Given the description of an element on the screen output the (x, y) to click on. 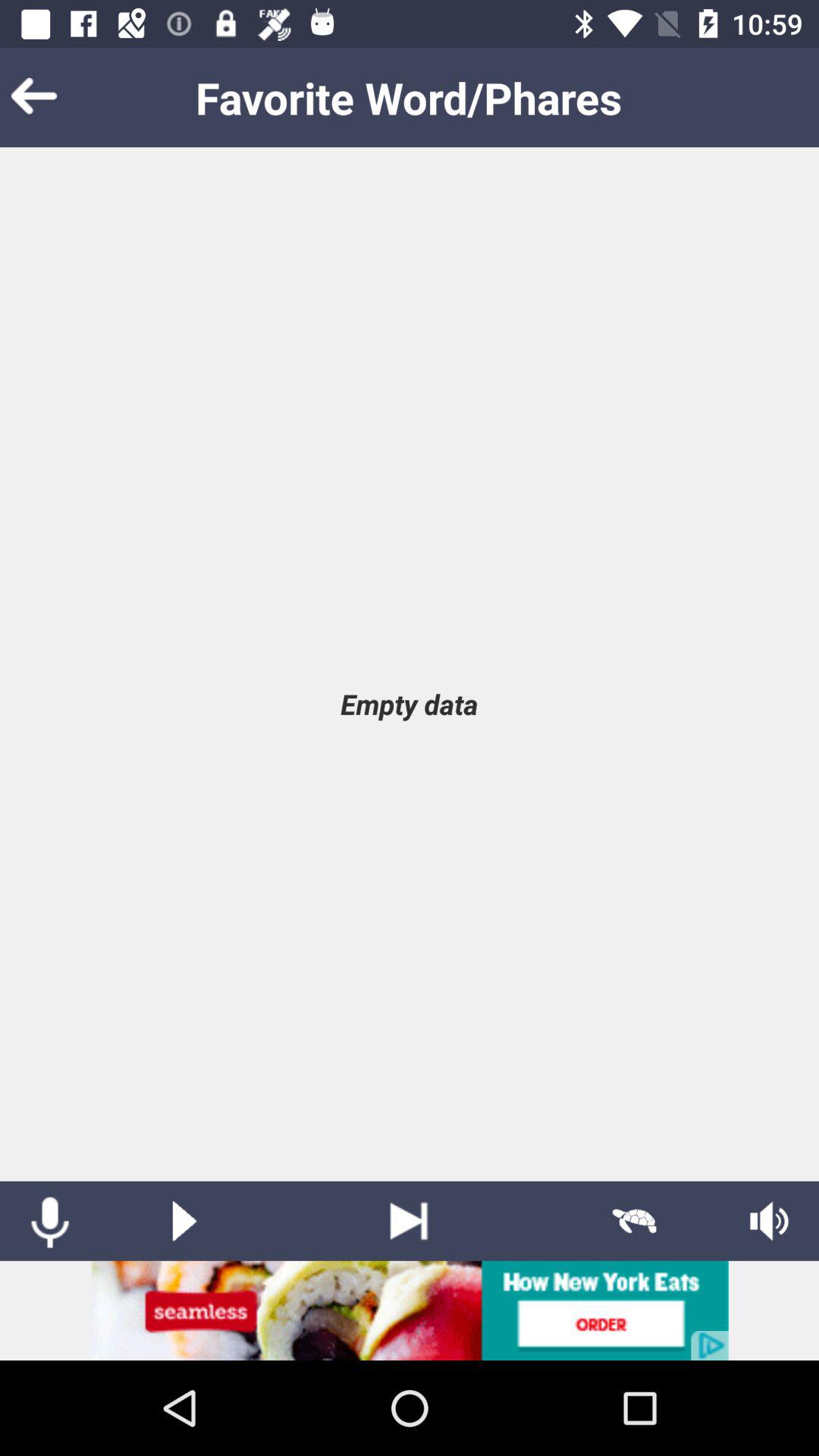
to play (184, 1220)
